Given the description of an element on the screen output the (x, y) to click on. 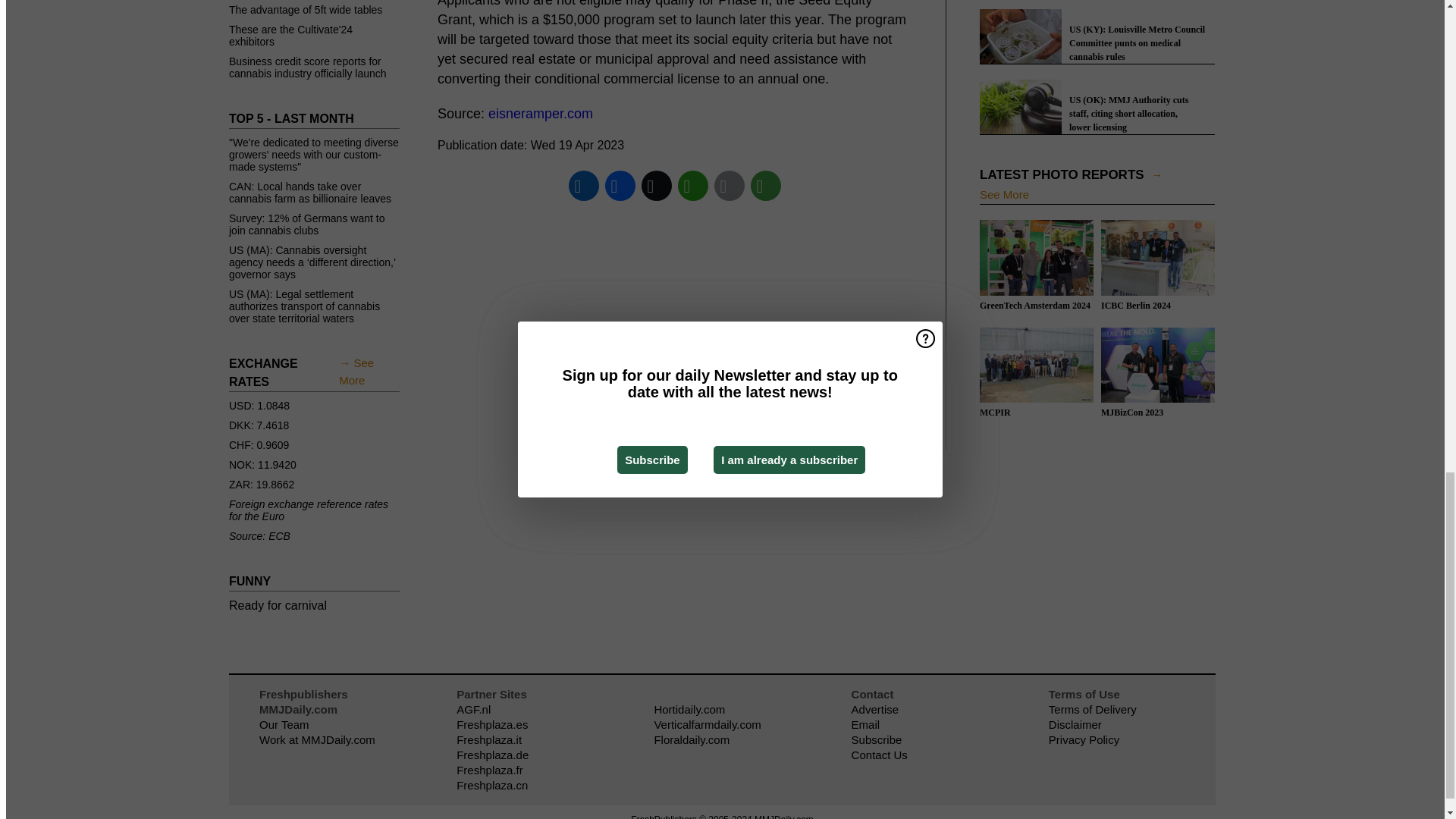
Facebook (620, 185)
WhatsApp (693, 185)
Email This (729, 185)
LinkedIn (584, 185)
More Options (766, 185)
